Given the description of an element on the screen output the (x, y) to click on. 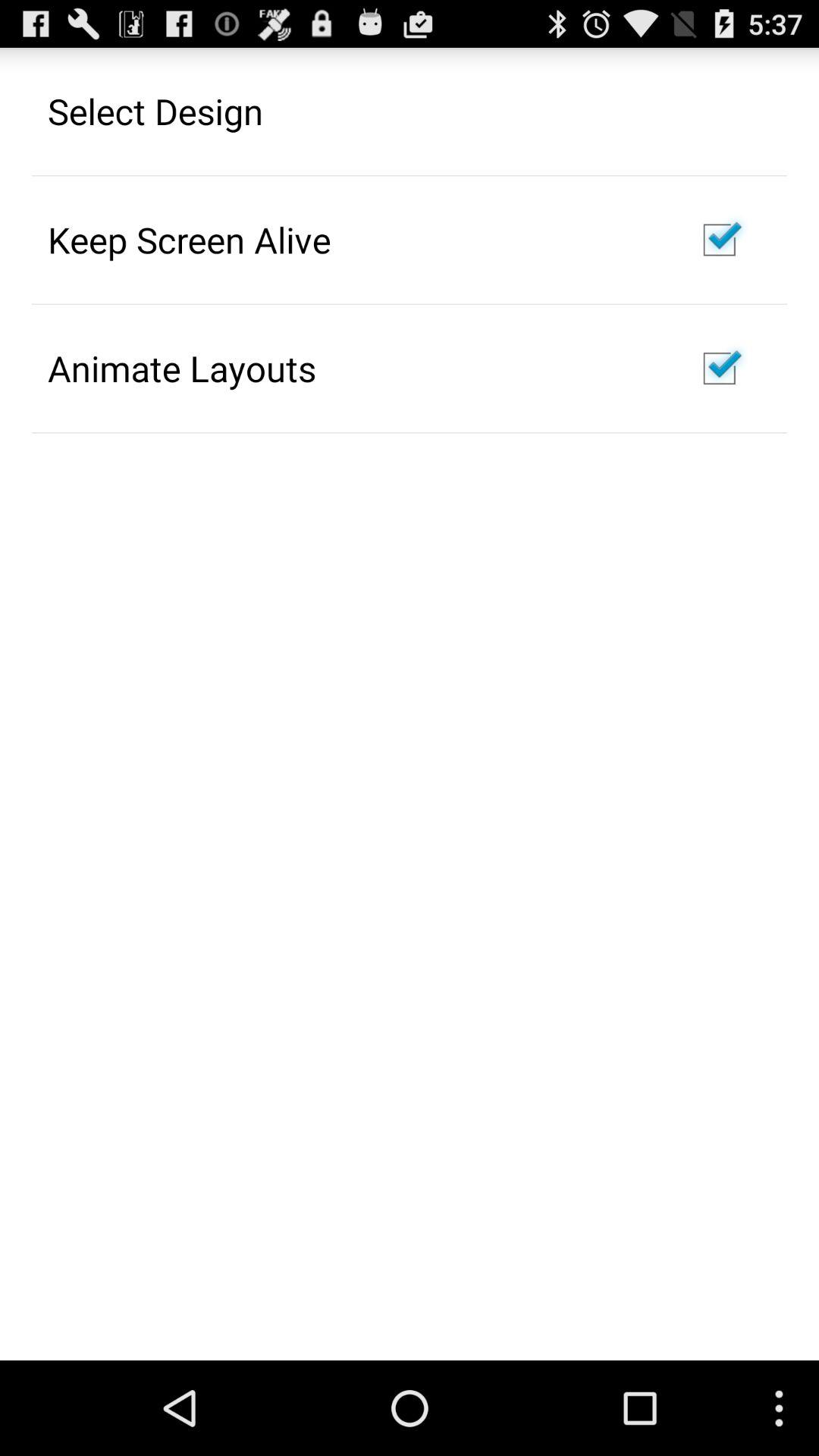
open icon below keep screen alive item (181, 368)
